Given the description of an element on the screen output the (x, y) to click on. 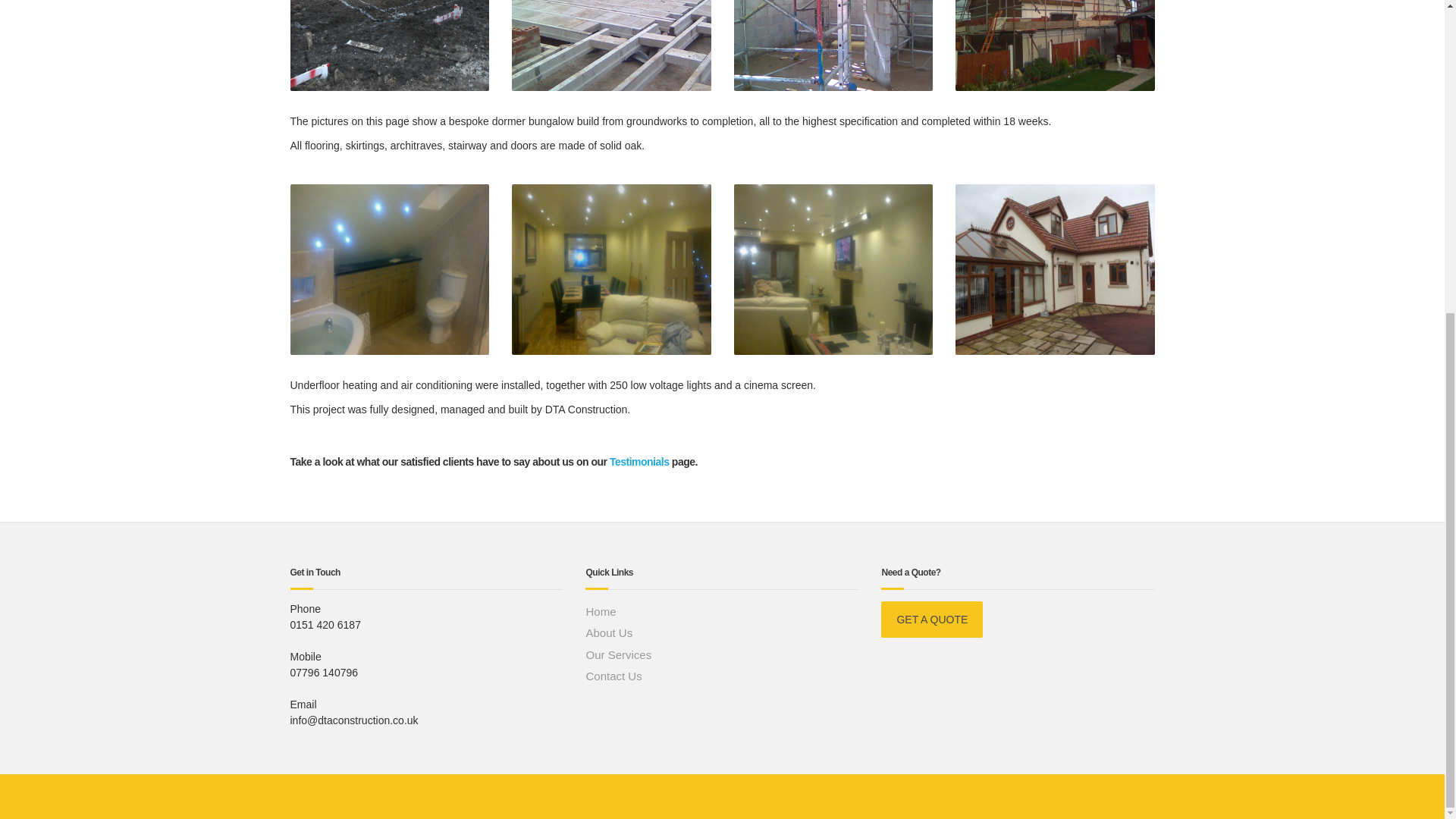
About Us (722, 633)
Our Services (722, 655)
Contact Us (722, 676)
Testimonials (639, 461)
GET A QUOTE (931, 619)
Home (722, 612)
